Given the description of an element on the screen output the (x, y) to click on. 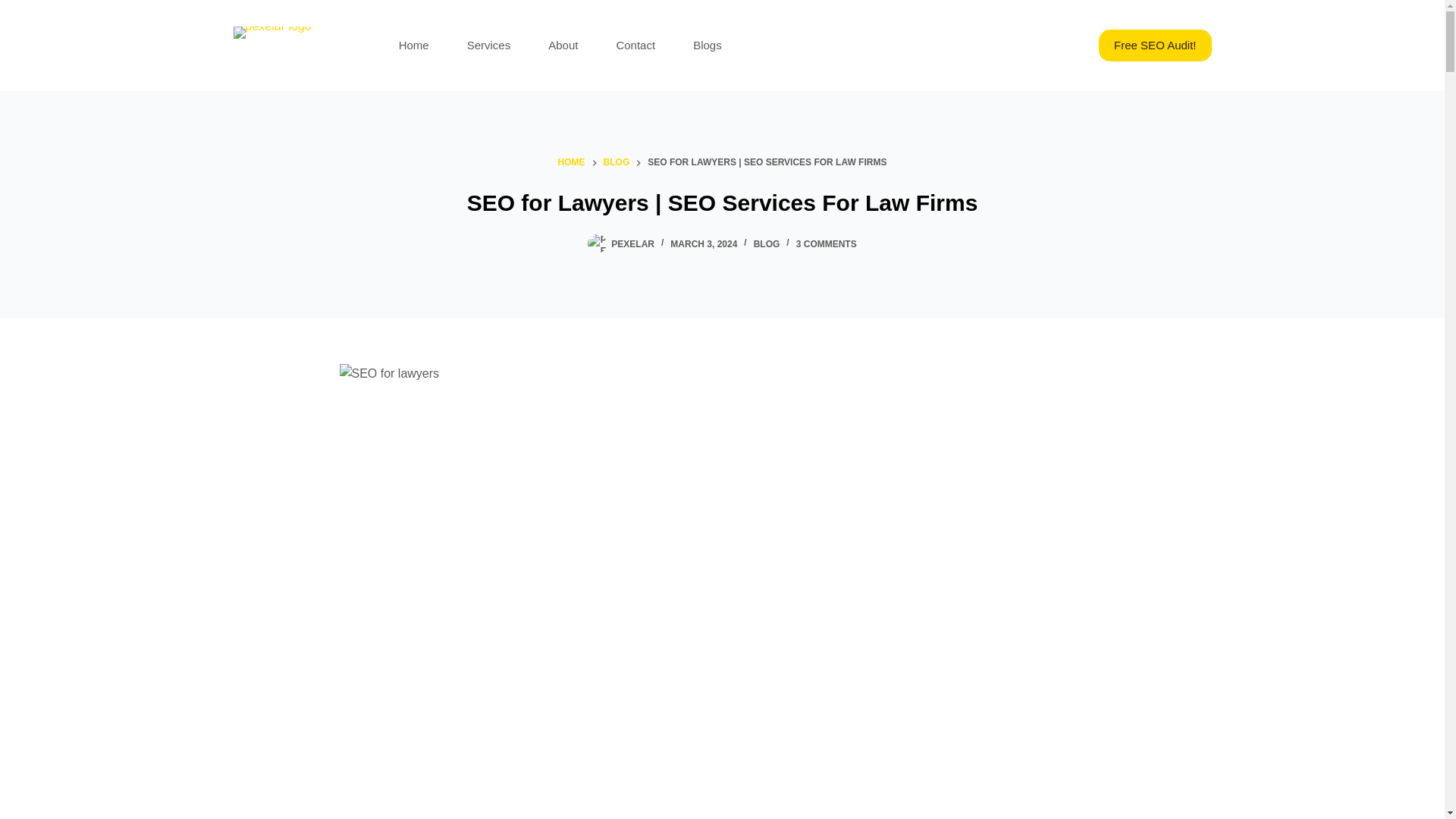
Skip to content (15, 7)
Home (414, 45)
Contact (635, 45)
About (562, 45)
Blogs (707, 45)
BLOG (617, 162)
PEXELAR (632, 244)
Free SEO Audit! (1155, 45)
3 COMMENTS (826, 244)
HOME (571, 162)
BLOG (767, 244)
Services (488, 45)
Posts by Pexelar (632, 244)
